Given the description of an element on the screen output the (x, y) to click on. 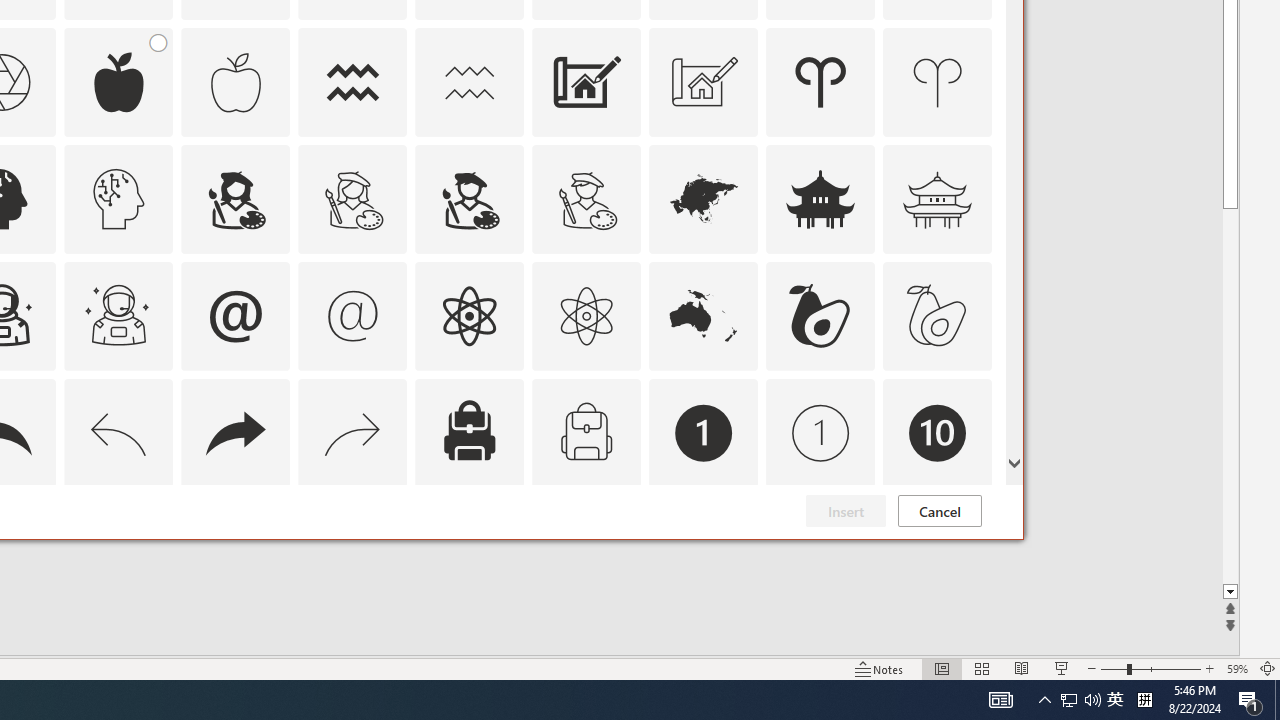
AutomationID: Icons_Atom (469, 316)
Action Center, 1 new notification (1250, 699)
AutomationID: Icons_ArtistFemale (235, 198)
AutomationID: Icons_Badge1_M (820, 432)
